Given the description of an element on the screen output the (x, y) to click on. 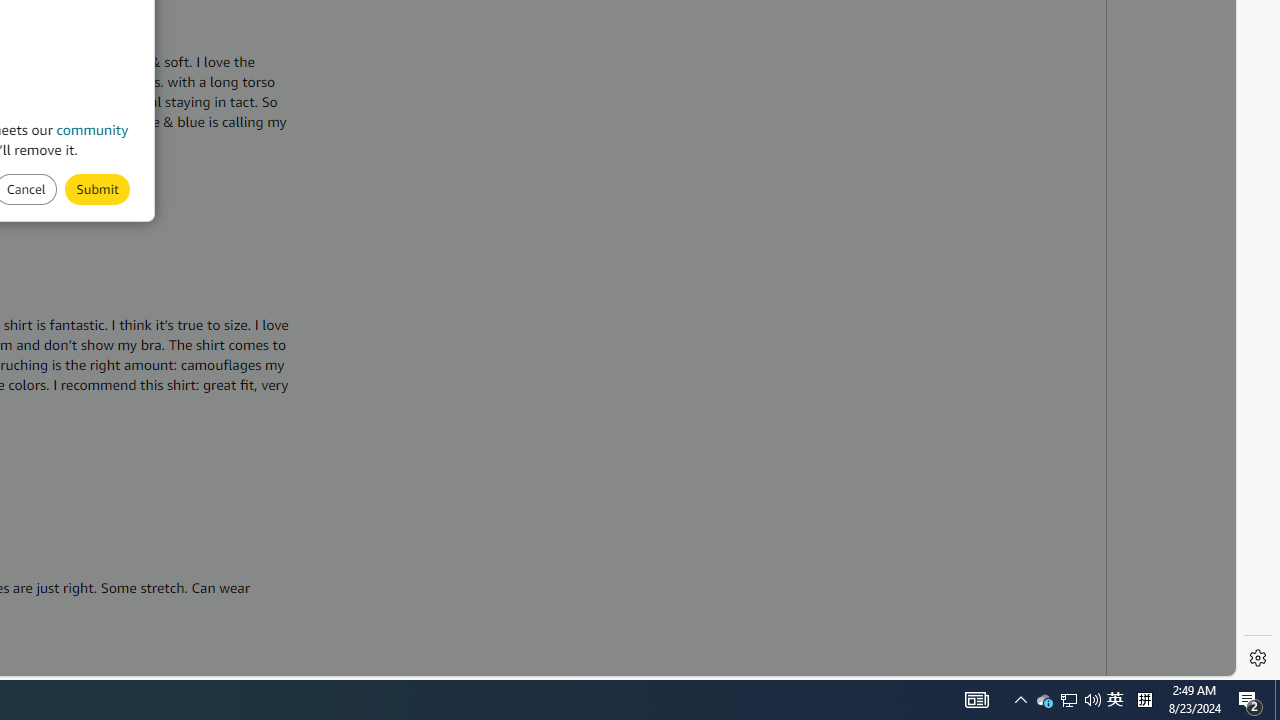
Mark this review for abuse BUTTON (97, 188)
